Given the description of an element on the screen output the (x, y) to click on. 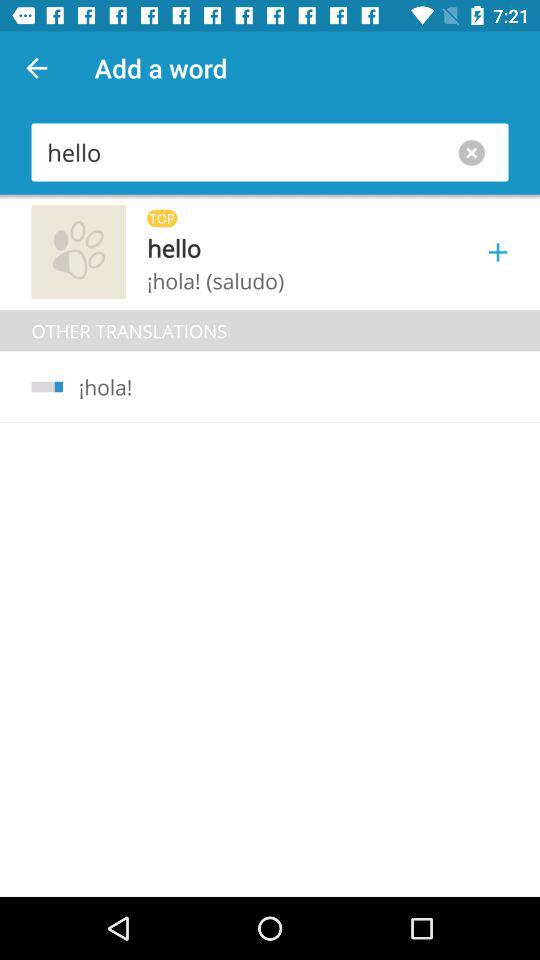
tap icon below other translations icon (97, 387)
